Given the description of an element on the screen output the (x, y) to click on. 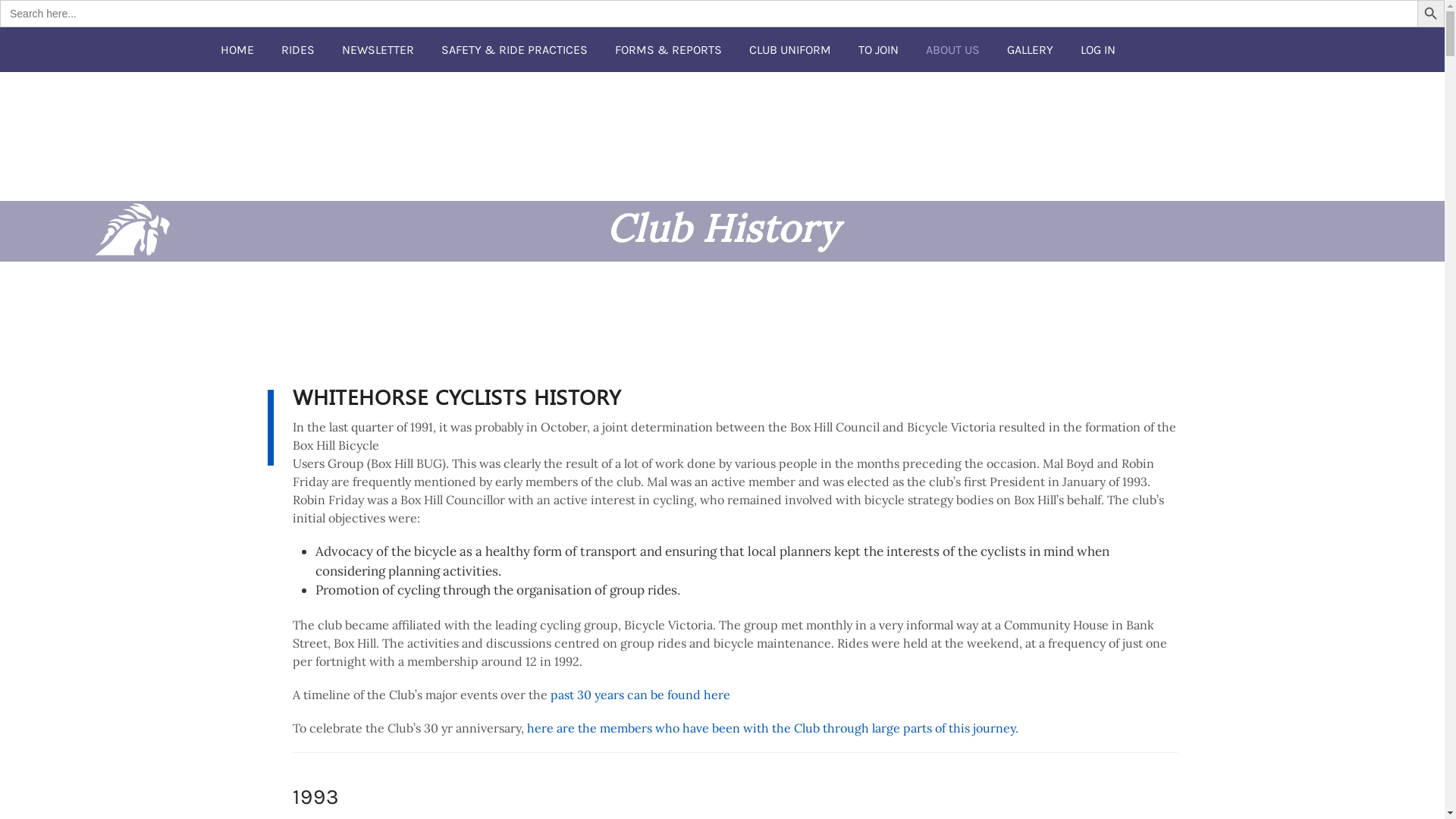
LOG IN Element type: text (1097, 49)
SAFETY & RIDE PRACTICES Element type: text (514, 49)
ABOUT US Element type: text (951, 49)
RIDES Element type: text (296, 49)
NEWSLETTER Element type: text (376, 49)
TO JOIN Element type: text (878, 49)
Search Button Element type: text (1430, 13)
CLUB UNIFORM Element type: text (789, 49)
past 30 years can be found here Element type: text (640, 694)
FORMS & REPORTS Element type: text (667, 49)
GALLERY Element type: text (1029, 49)
HOME Element type: text (236, 49)
